Given the description of an element on the screen output the (x, y) to click on. 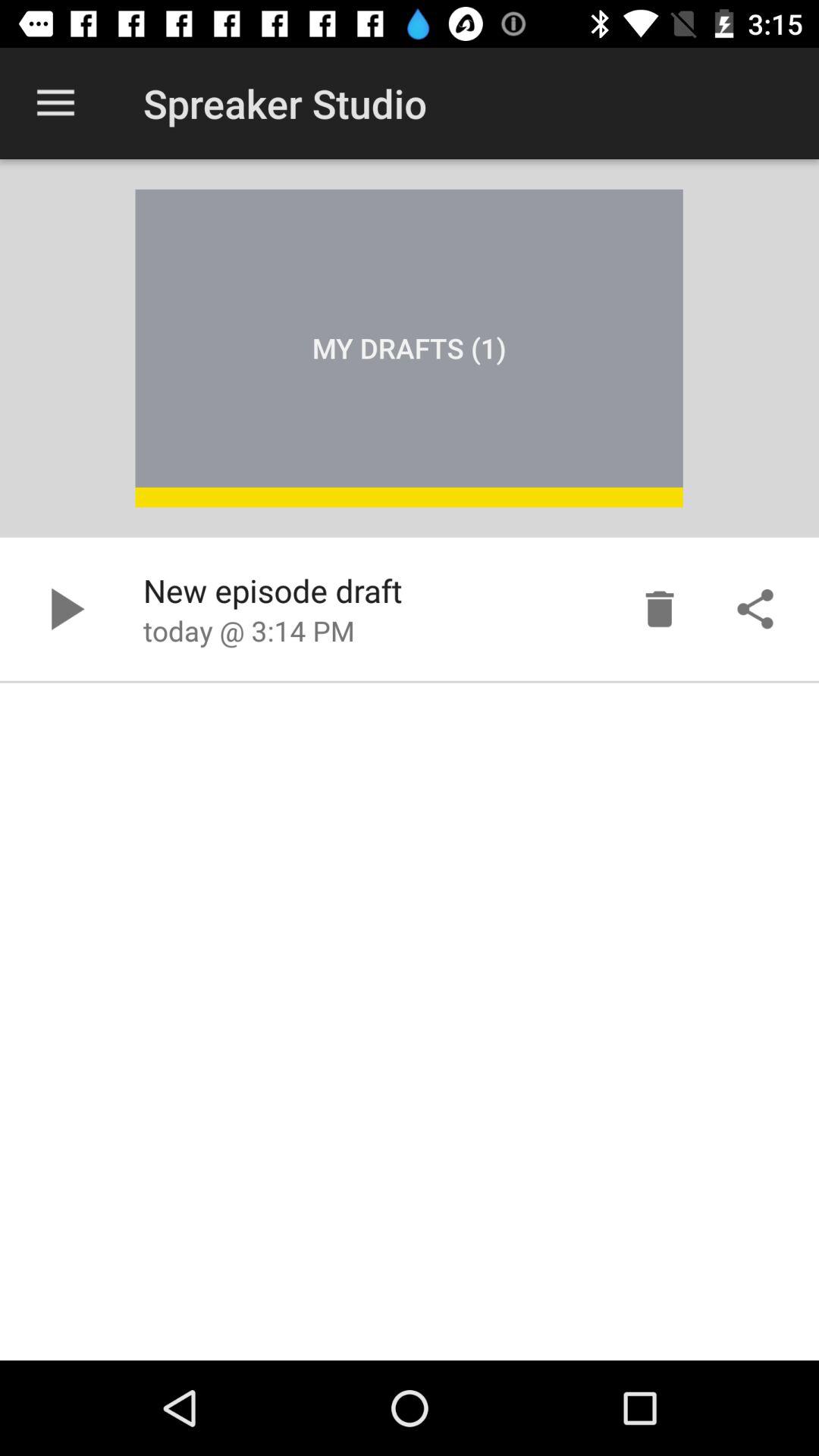
audio options (755, 608)
